Given the description of an element on the screen output the (x, y) to click on. 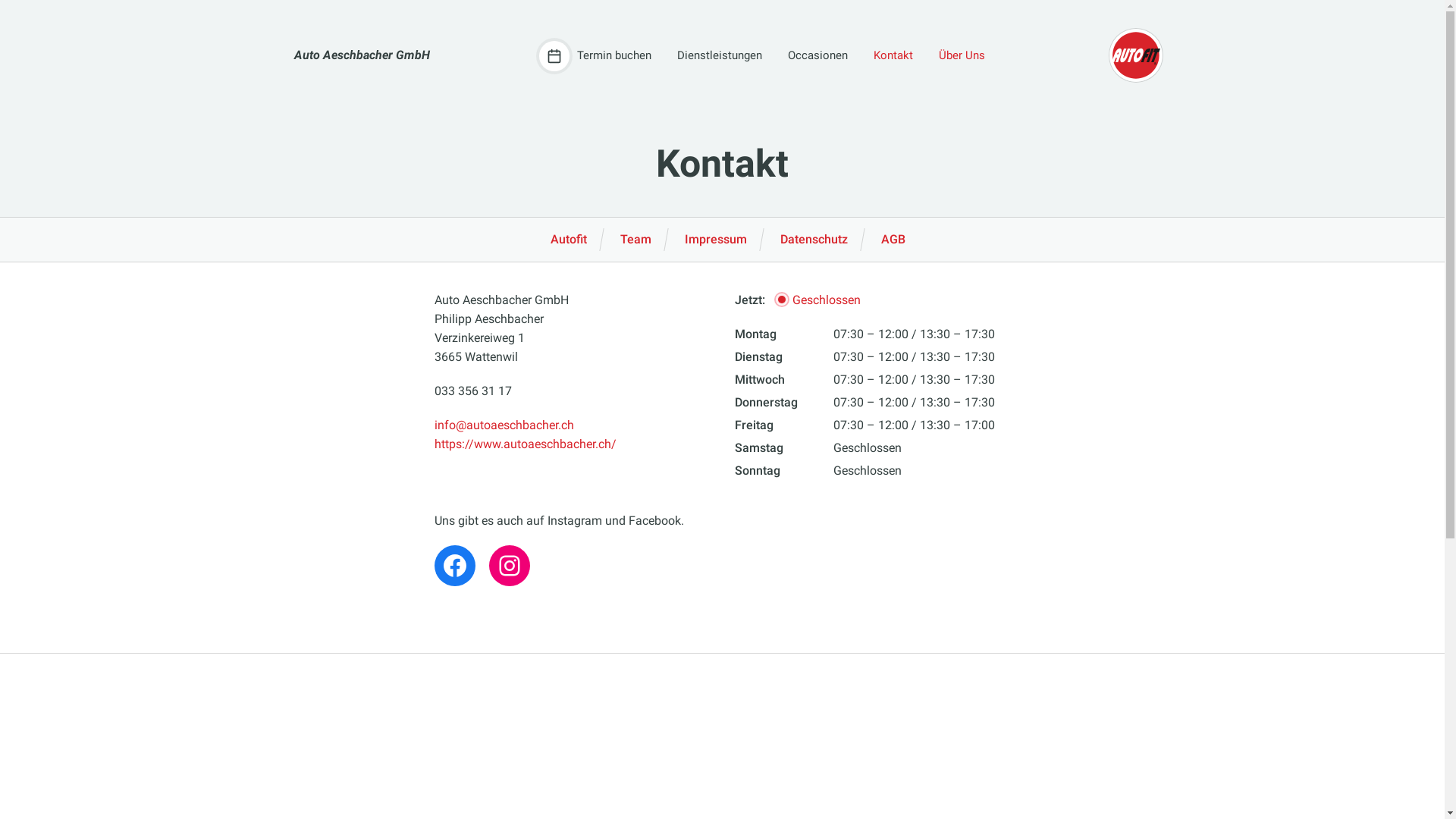
Team Element type: text (635, 239)
info@autoaeschbacher.ch Element type: text (503, 424)
Auto Aeschbacher GmbH Element type: text (361, 55)
https://www.autoaeschbacher.ch/ Element type: text (524, 443)
Kontakt Element type: text (889, 55)
Datenschutz Element type: text (813, 239)
Occasionen Element type: text (812, 55)
AGB Element type: text (893, 239)
Impressum Element type: text (715, 239)
Facebook Element type: text (453, 565)
Termin buchen Element type: text (594, 55)
Instagram Element type: text (508, 565)
Autofit Element type: text (568, 239)
Dienstleistungen Element type: text (714, 55)
